Given the description of an element on the screen output the (x, y) to click on. 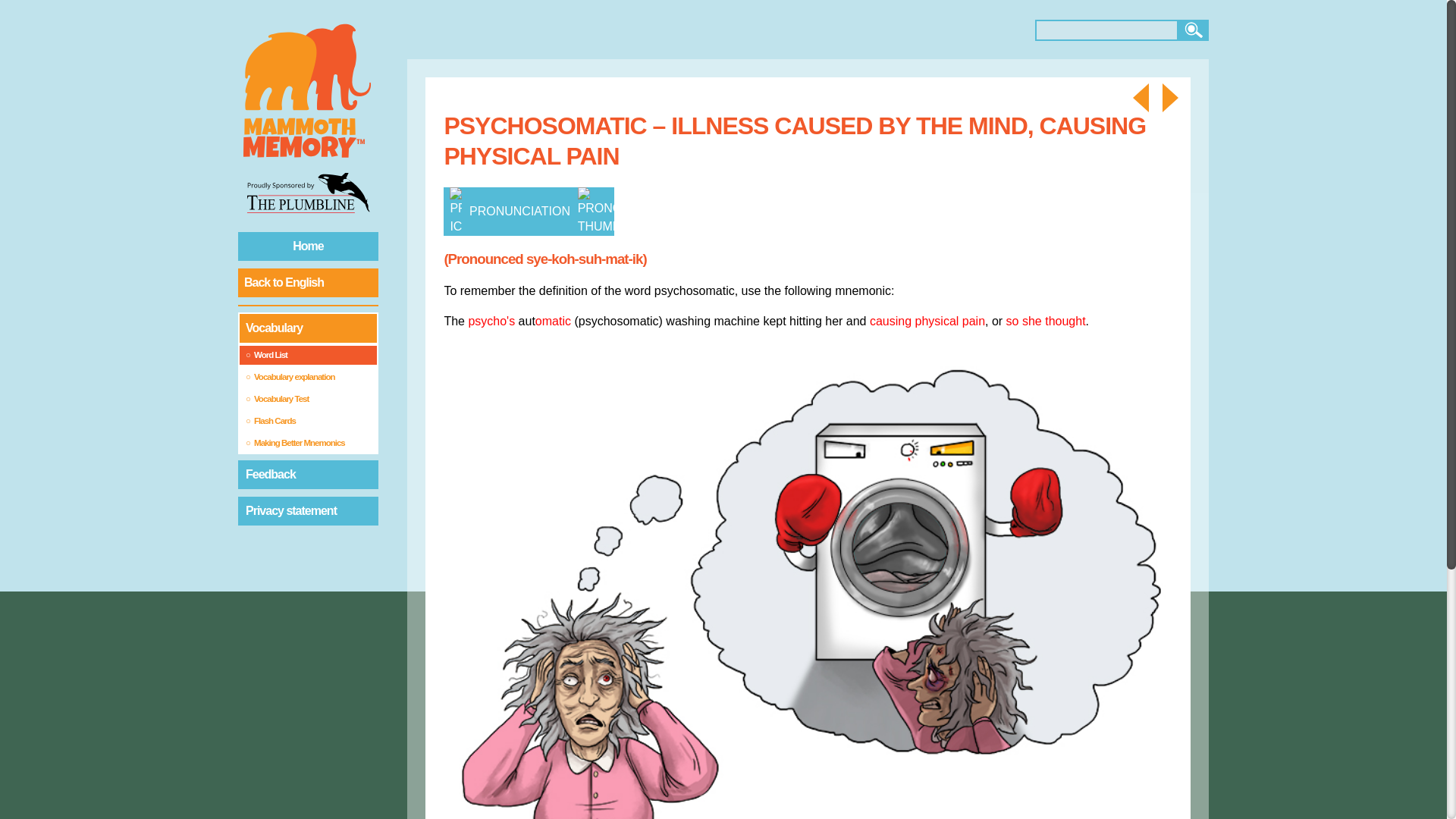
Vocabulary Test (308, 399)
Memory (424, 29)
Maths (574, 29)
Languages (686, 29)
Word List (308, 354)
Vocabulary explanation (308, 377)
Feedback (308, 474)
Sports Science (874, 29)
Biology (498, 29)
Back to English (308, 282)
Physics (536, 29)
Exam Techniques (949, 29)
Home (308, 246)
Business Studies (911, 29)
PRONUNCIATION (528, 211)
